Given the description of an element on the screen output the (x, y) to click on. 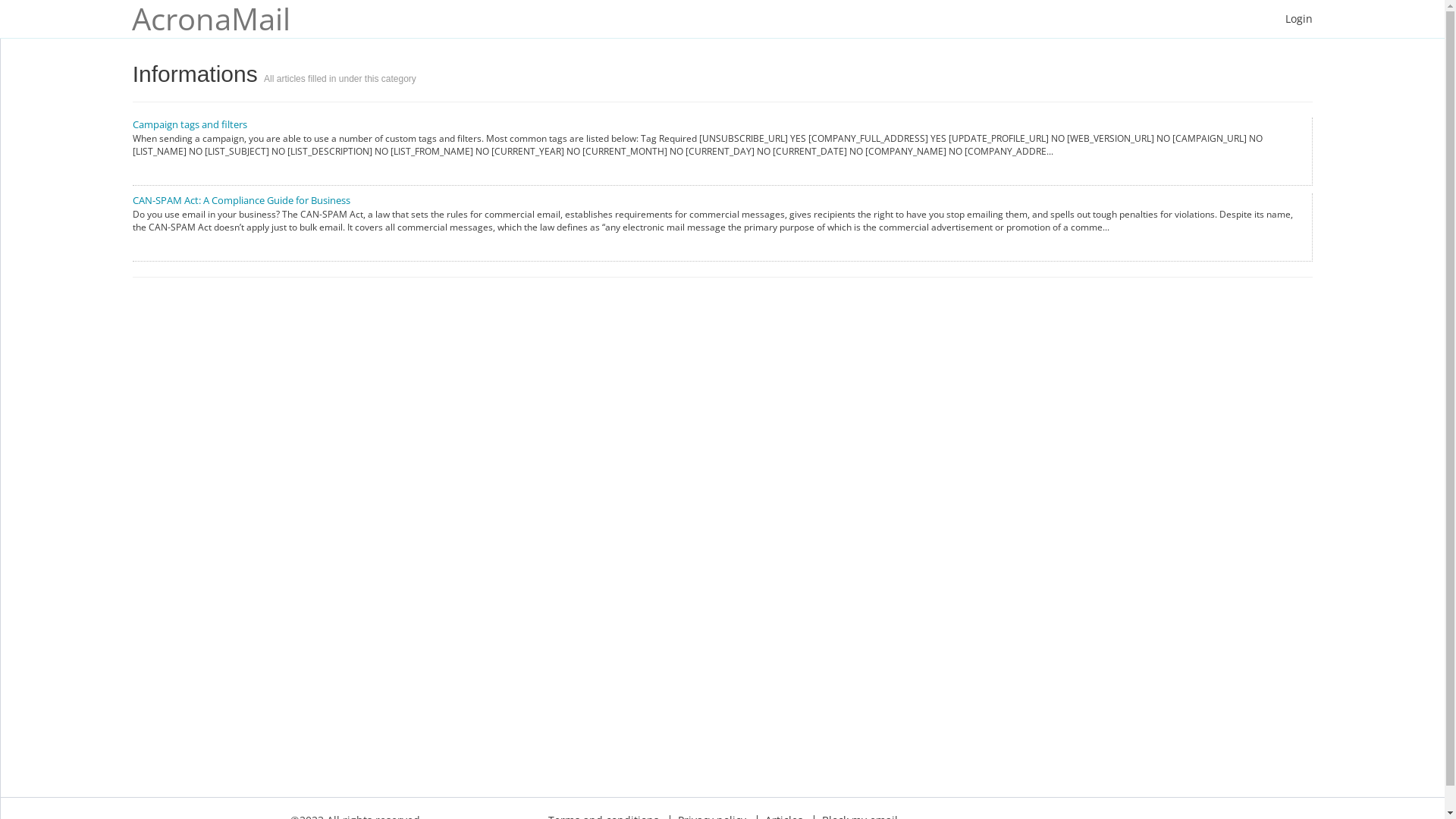
Login Element type: text (1299, 18)
AcronaMail Element type: text (218, 18)
Campaign tags and filters Element type: text (189, 124)
CAN-SPAM Act: A Compliance Guide for Business Element type: text (241, 200)
